Given the description of an element on the screen output the (x, y) to click on. 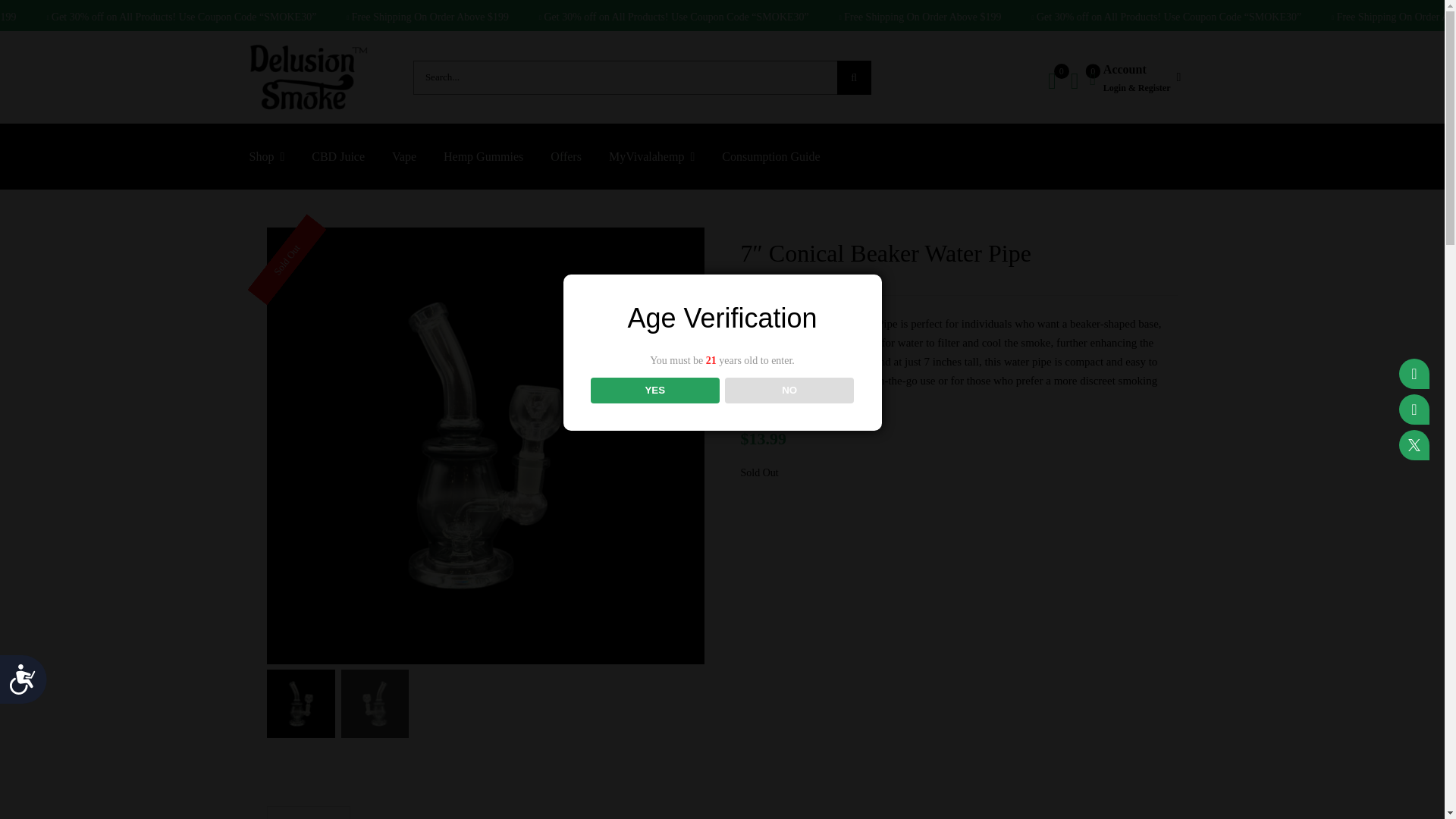
Accessibility (29, 685)
Account (1134, 77)
Log In (1137, 243)
